Given the description of an element on the screen output the (x, y) to click on. 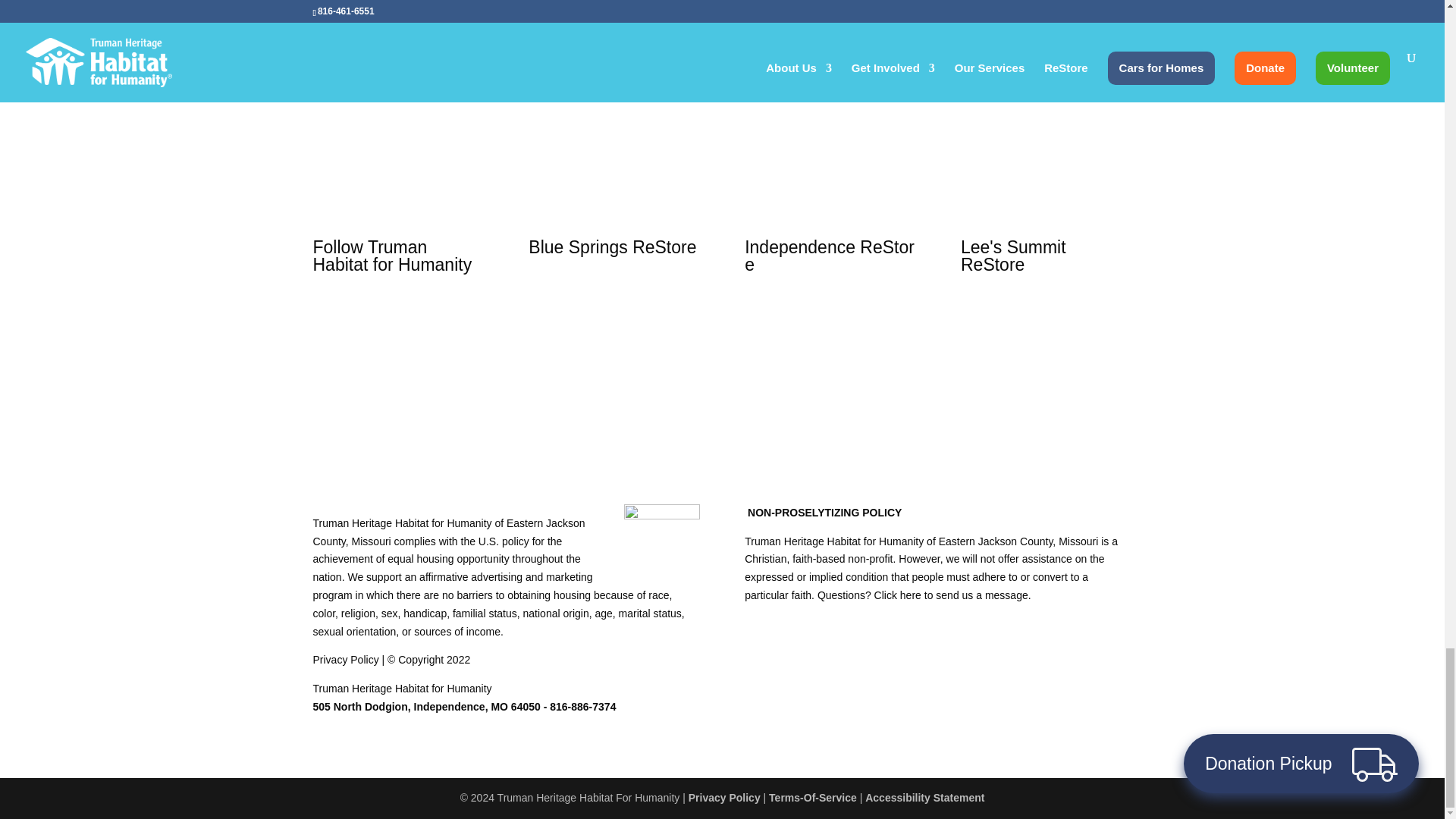
Follow on Instagram (751, 97)
Follow on Instagram (428, 315)
Follow on Twitter (721, 97)
Follow on Facebook (830, 315)
Follow on Twitter (397, 315)
Follow on Facebook (367, 315)
Follow on Facebook (691, 97)
Follow on Facebook (614, 298)
Follow on Facebook (1045, 315)
